Given the description of an element on the screen output the (x, y) to click on. 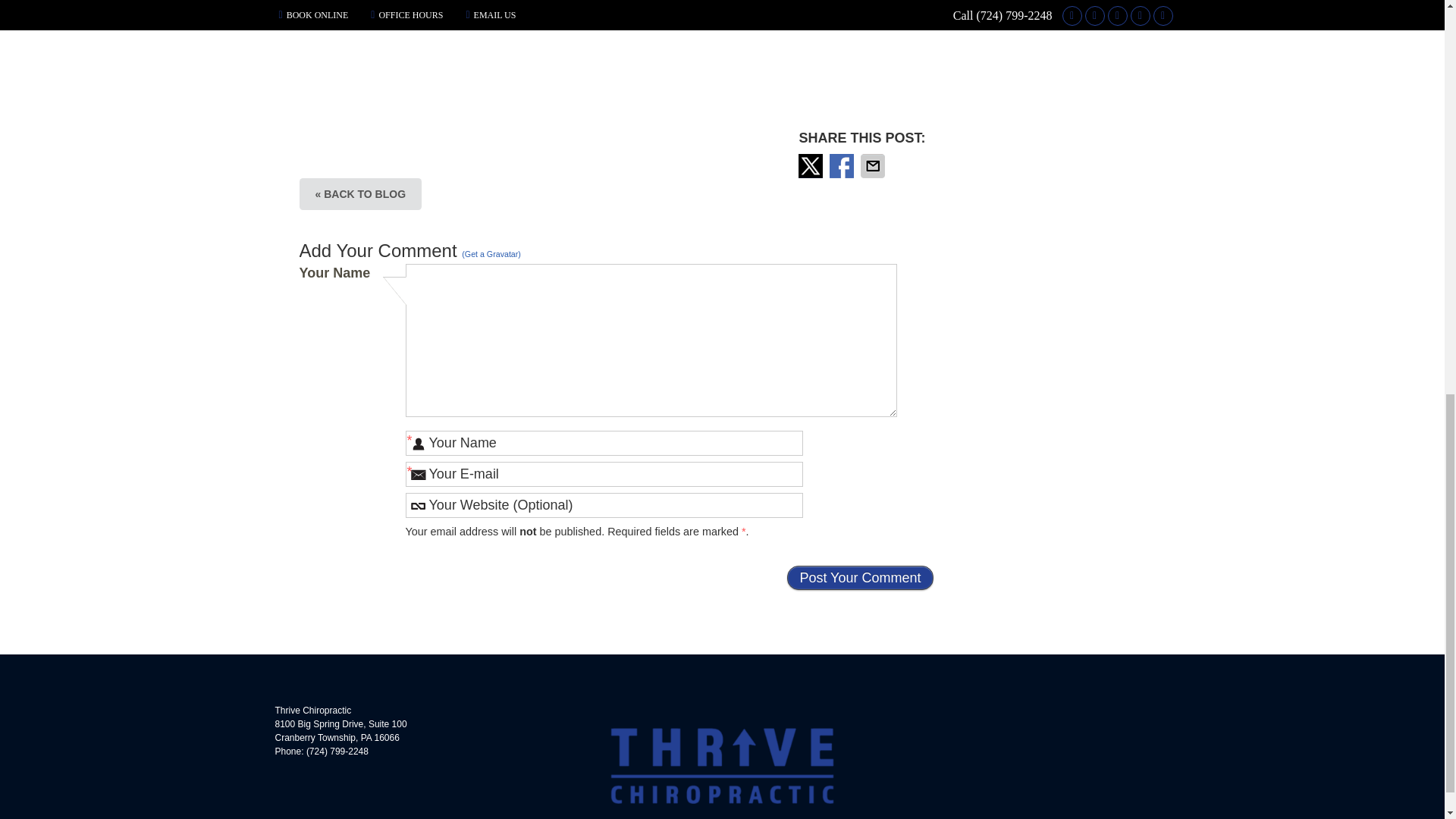
Your E-mail (603, 473)
Post Your Comment (860, 577)
Your E-mail (603, 473)
Your Name (603, 442)
Your Name (603, 442)
The Importance of  (615, 58)
